Given the description of an element on the screen output the (x, y) to click on. 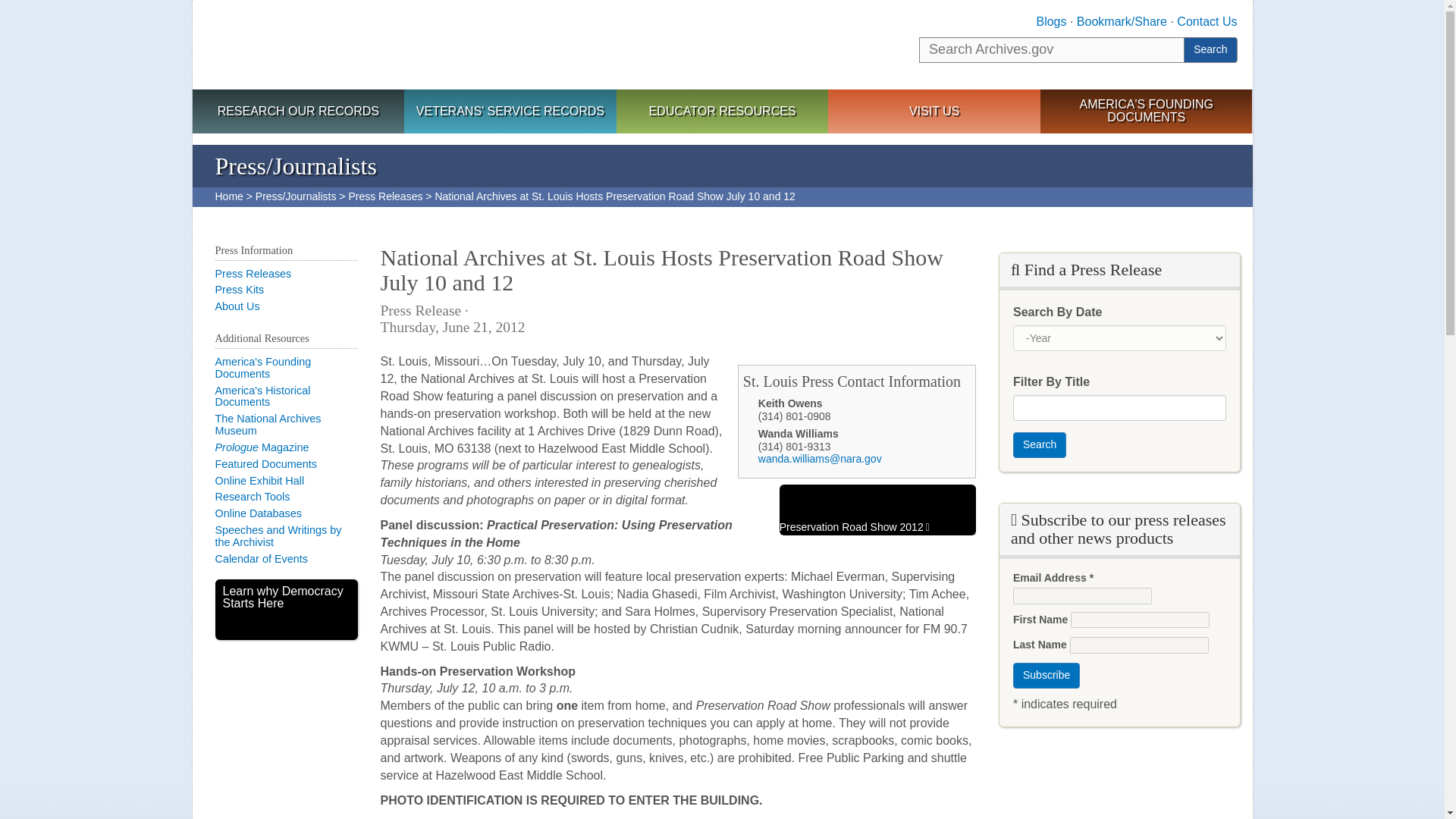
Learn why Democracy Starts Here (286, 609)
EDUCATOR RESOURCES (721, 111)
Press Releases (253, 273)
Research Tools (252, 496)
VETERANS' SERVICE RECORDS (509, 111)
Contact Us (1206, 21)
RESEARCH OUR RECORDS (298, 111)
Preservation Road Show 2012 (876, 509)
Press Kits (239, 289)
VISIT US (934, 111)
Speeches and Writings by the Archivist (278, 535)
Online Databases (258, 512)
